Given the description of an element on the screen output the (x, y) to click on. 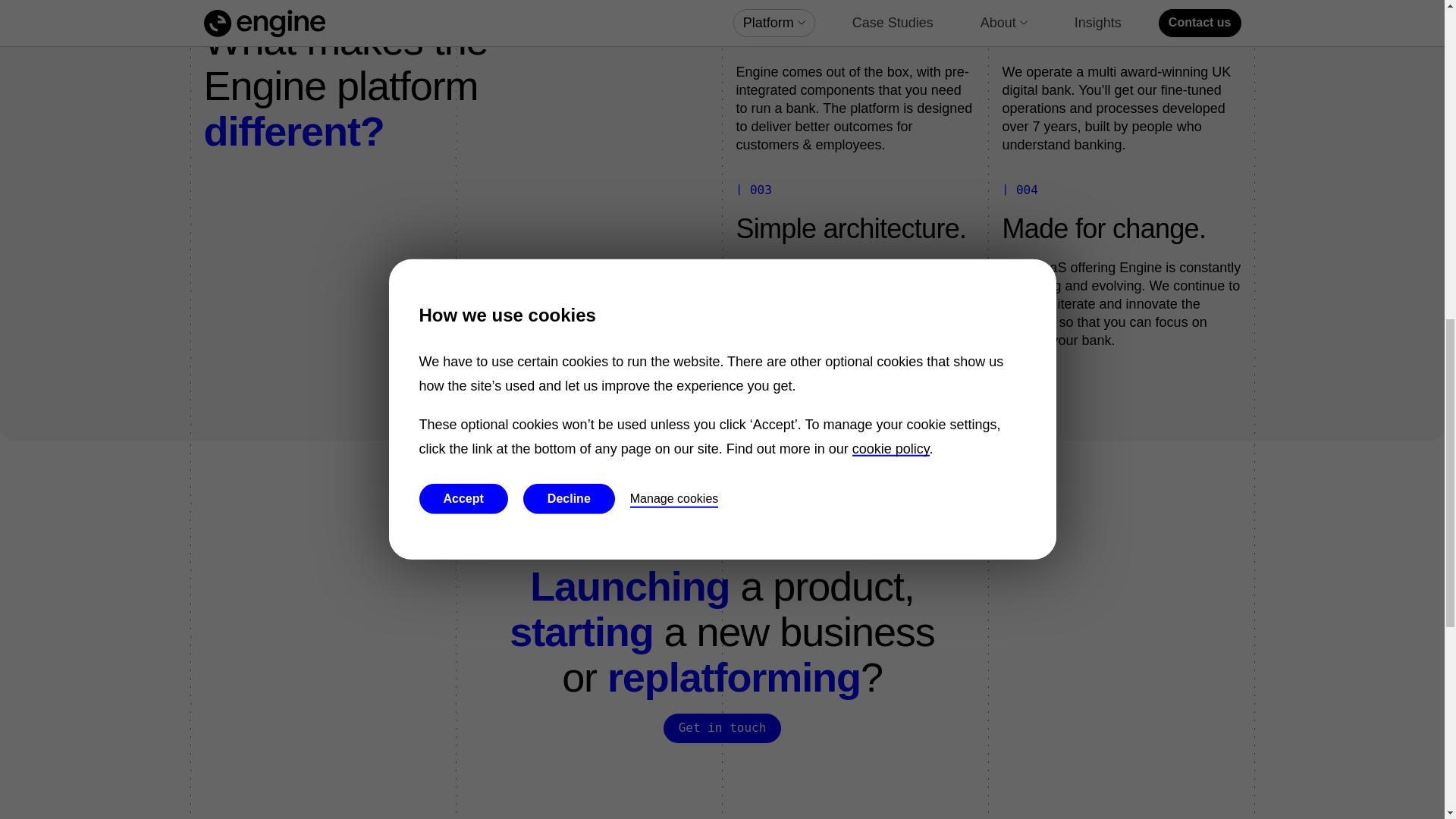
Get in touch (722, 727)
